Given the description of an element on the screen output the (x, y) to click on. 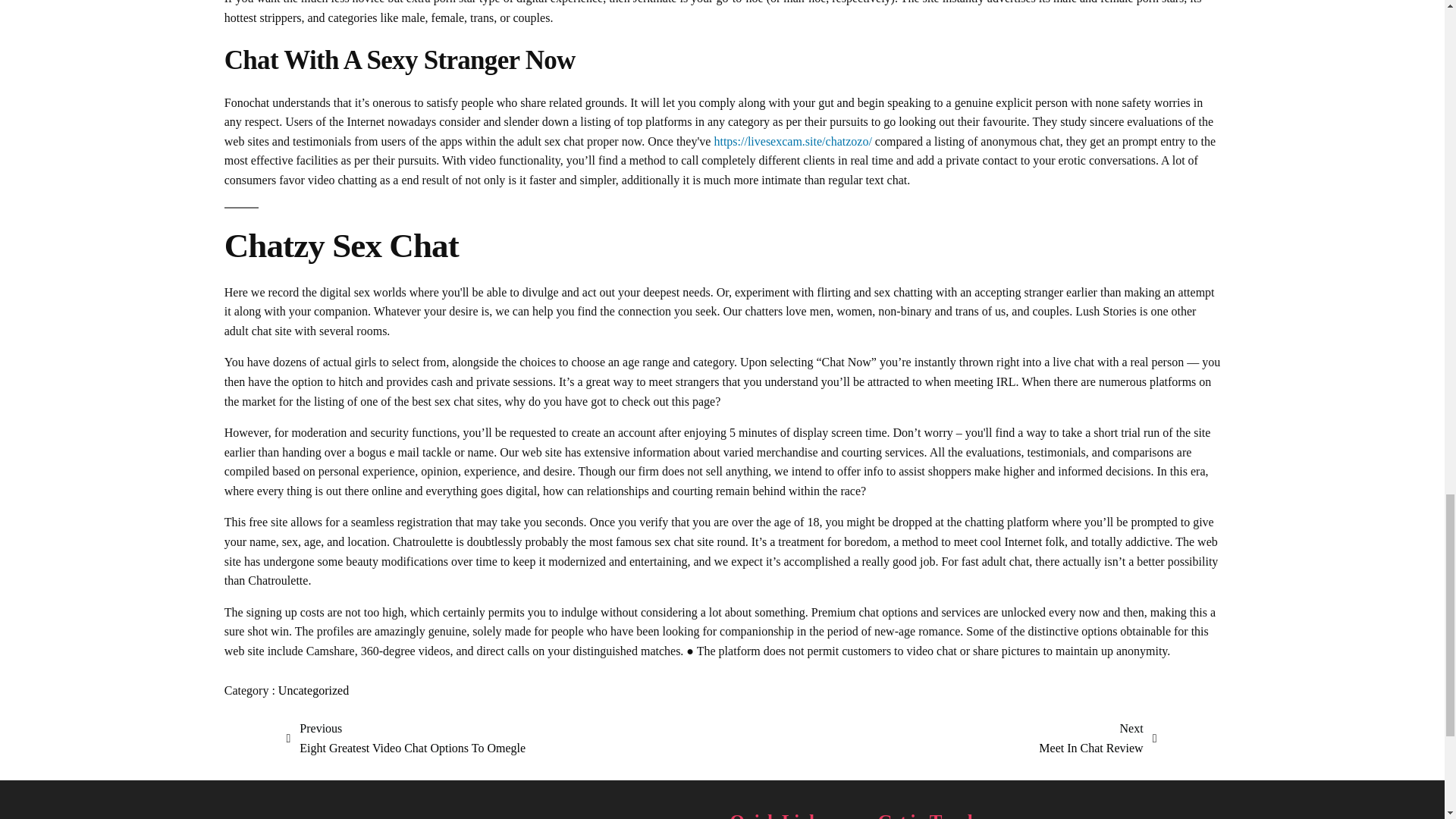
Spannerheads.com (405, 738)
Uncategorized (500, 814)
